Given the description of an element on the screen output the (x, y) to click on. 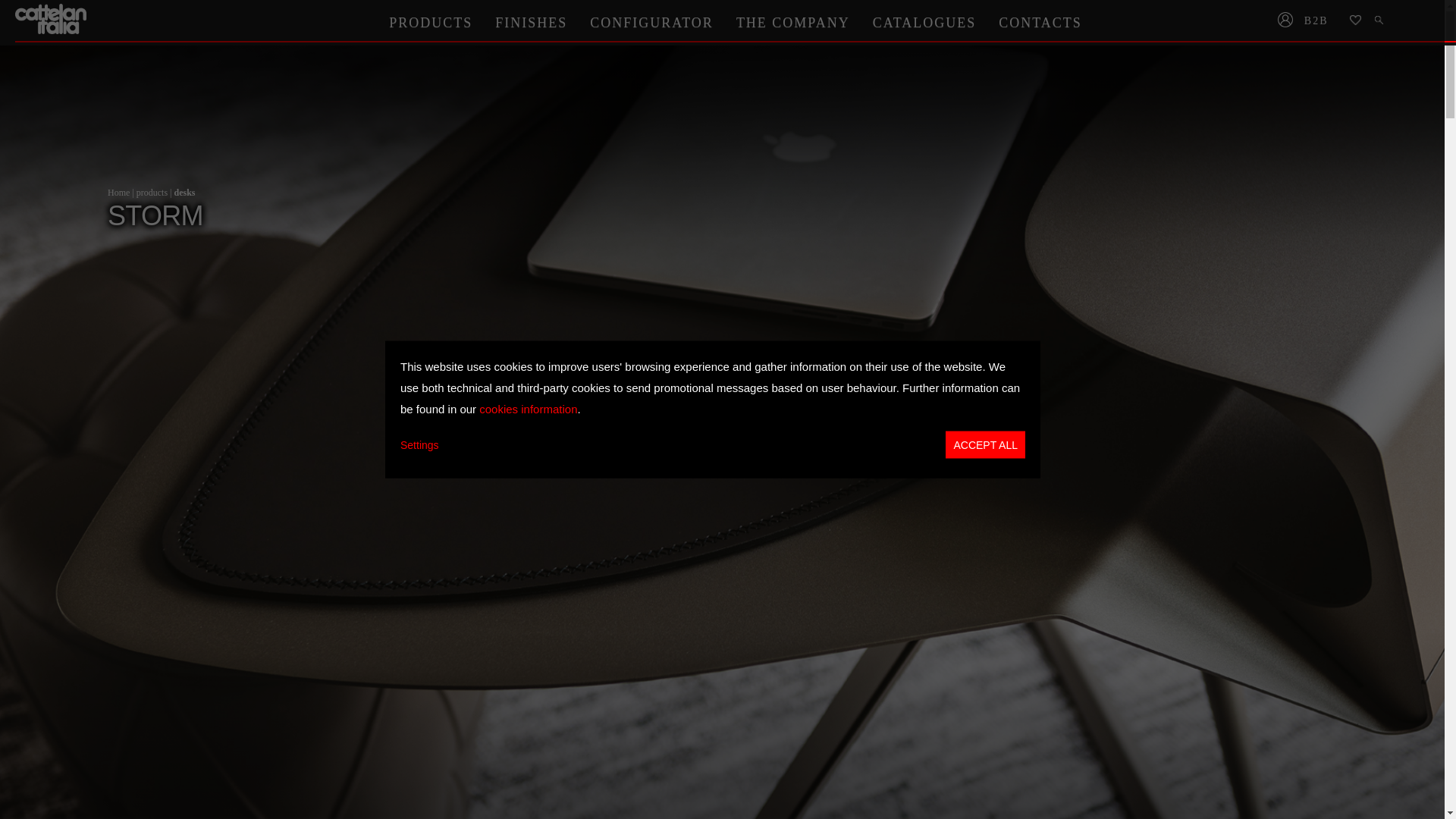
ACCEPT ALL (984, 443)
PRODUCTS (430, 22)
B2B (1321, 20)
cookies information (527, 408)
products (151, 192)
Settings (419, 444)
CATALOGUES (924, 22)
Search... (1381, 20)
DESKS (184, 192)
THE COMPANY (793, 22)
CONFIGURATOR (651, 22)
FINISHES (530, 22)
Cookies information (527, 408)
CONTACTS (1040, 22)
Login (1285, 21)
